Given the description of an element on the screen output the (x, y) to click on. 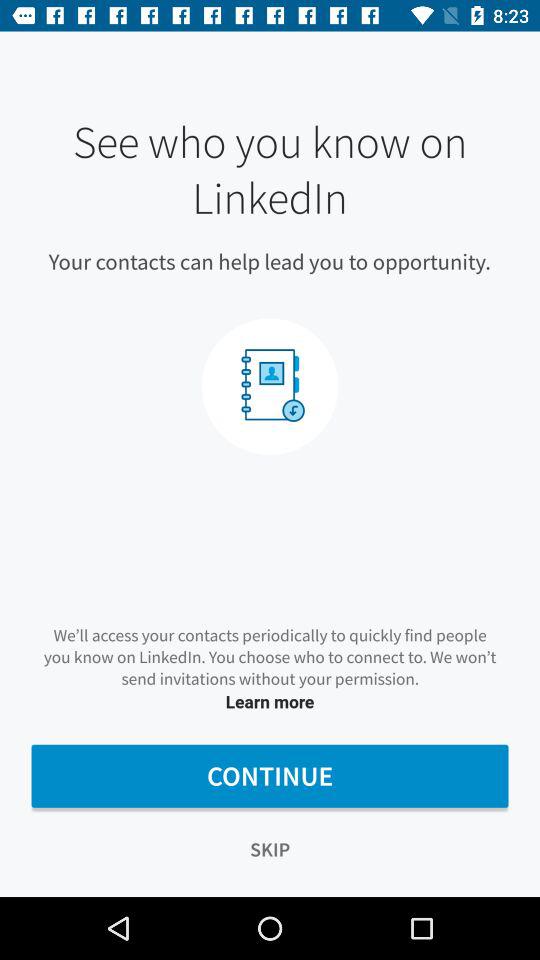
select the skip icon (269, 849)
